Given the description of an element on the screen output the (x, y) to click on. 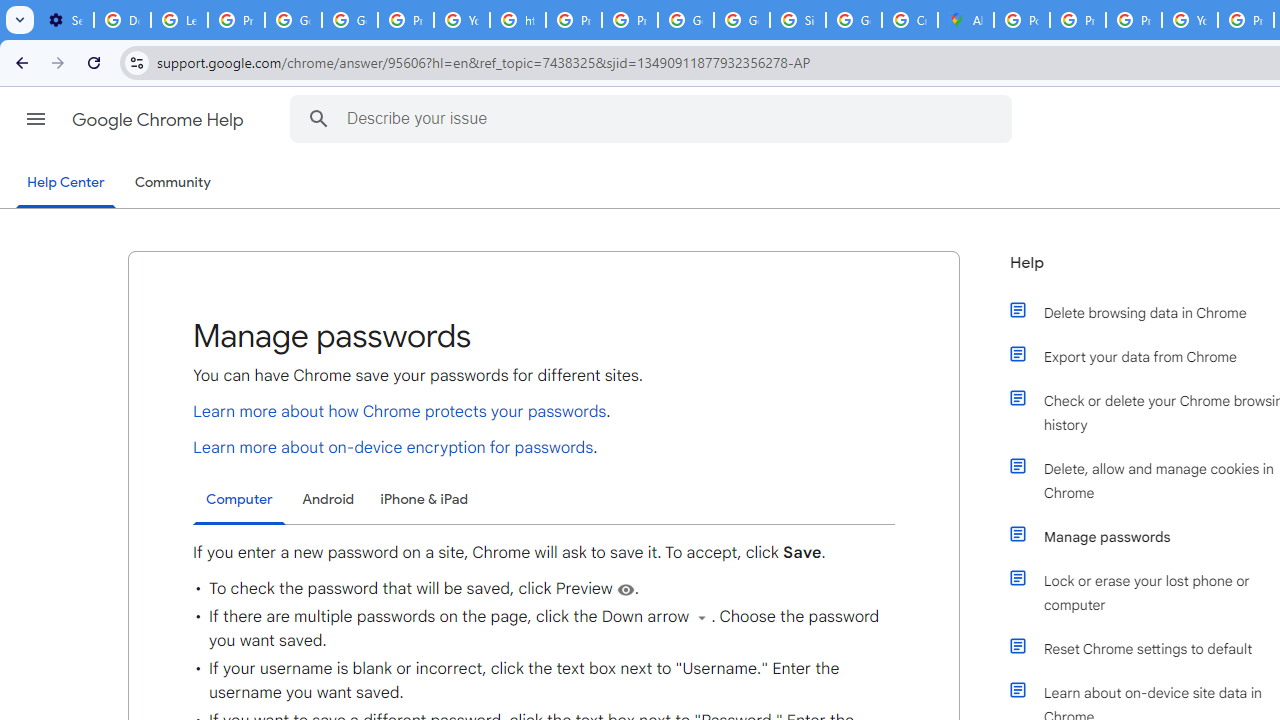
Computer (239, 499)
Settings - On startup (65, 20)
Sign in - Google Accounts (797, 20)
Policy Accountability and Transparency - Transparency Center (1021, 20)
iPhone & iPad (424, 498)
YouTube (1190, 20)
Preview (624, 589)
Describe your issue (653, 118)
